Given the description of an element on the screen output the (x, y) to click on. 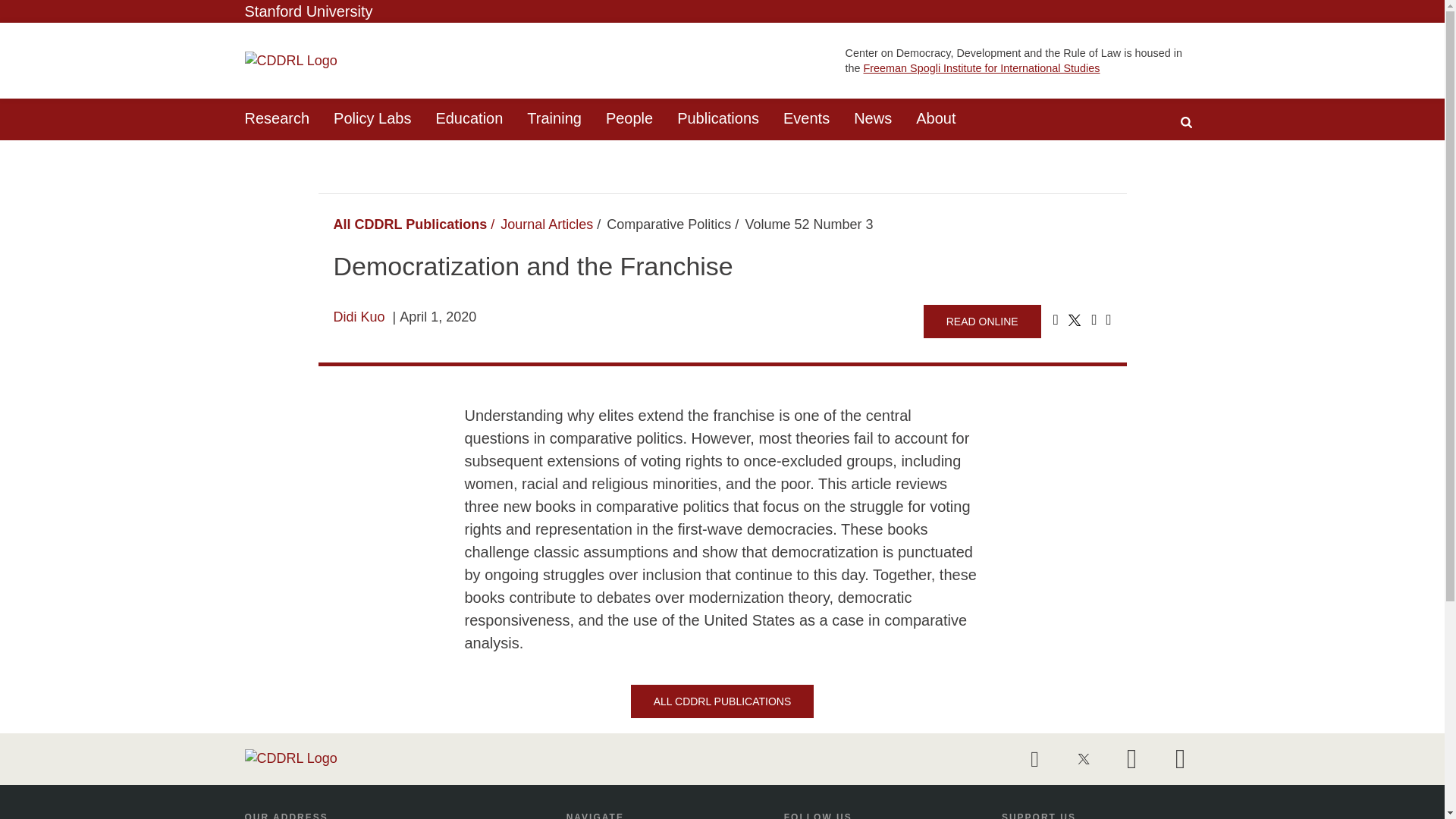
About (936, 118)
All CDDRL Publications (410, 224)
Publications (718, 118)
Freeman Spogli Institute for International Studies (981, 68)
Events (806, 118)
People (629, 118)
Search (1185, 122)
Search (1185, 122)
Home (290, 60)
Education (469, 118)
Training (554, 118)
Stanford University (308, 11)
Research (276, 118)
News (872, 118)
